Given the description of an element on the screen output the (x, y) to click on. 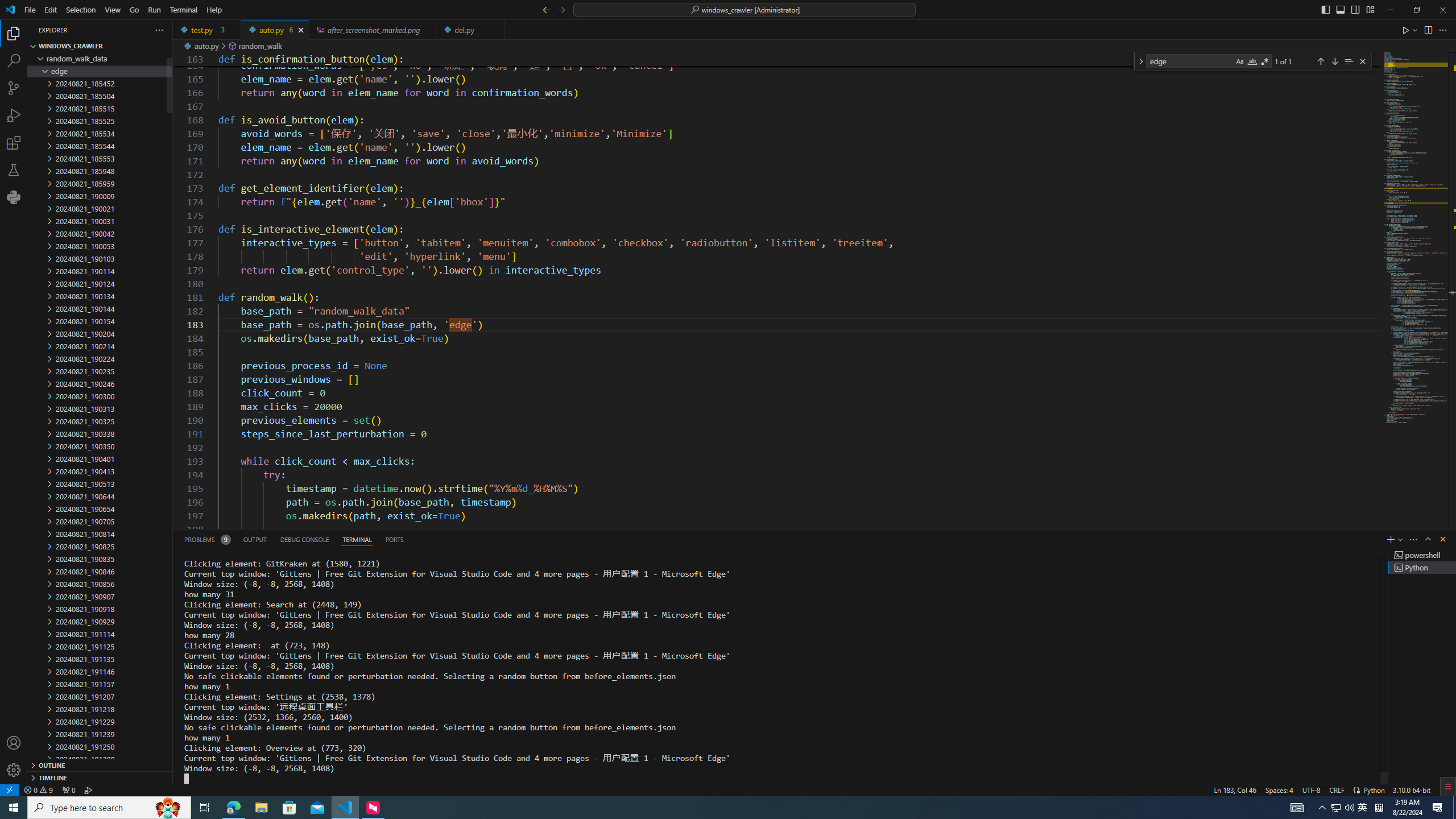
Toggle Secondary Side Bar (Ctrl+Alt+B) (1355, 9)
CRLF (1336, 789)
remote (9, 789)
Launch Profile... (1400, 539)
Edit (50, 9)
Selection (80, 9)
Terminal 5 Python (1422, 567)
